Given the description of an element on the screen output the (x, y) to click on. 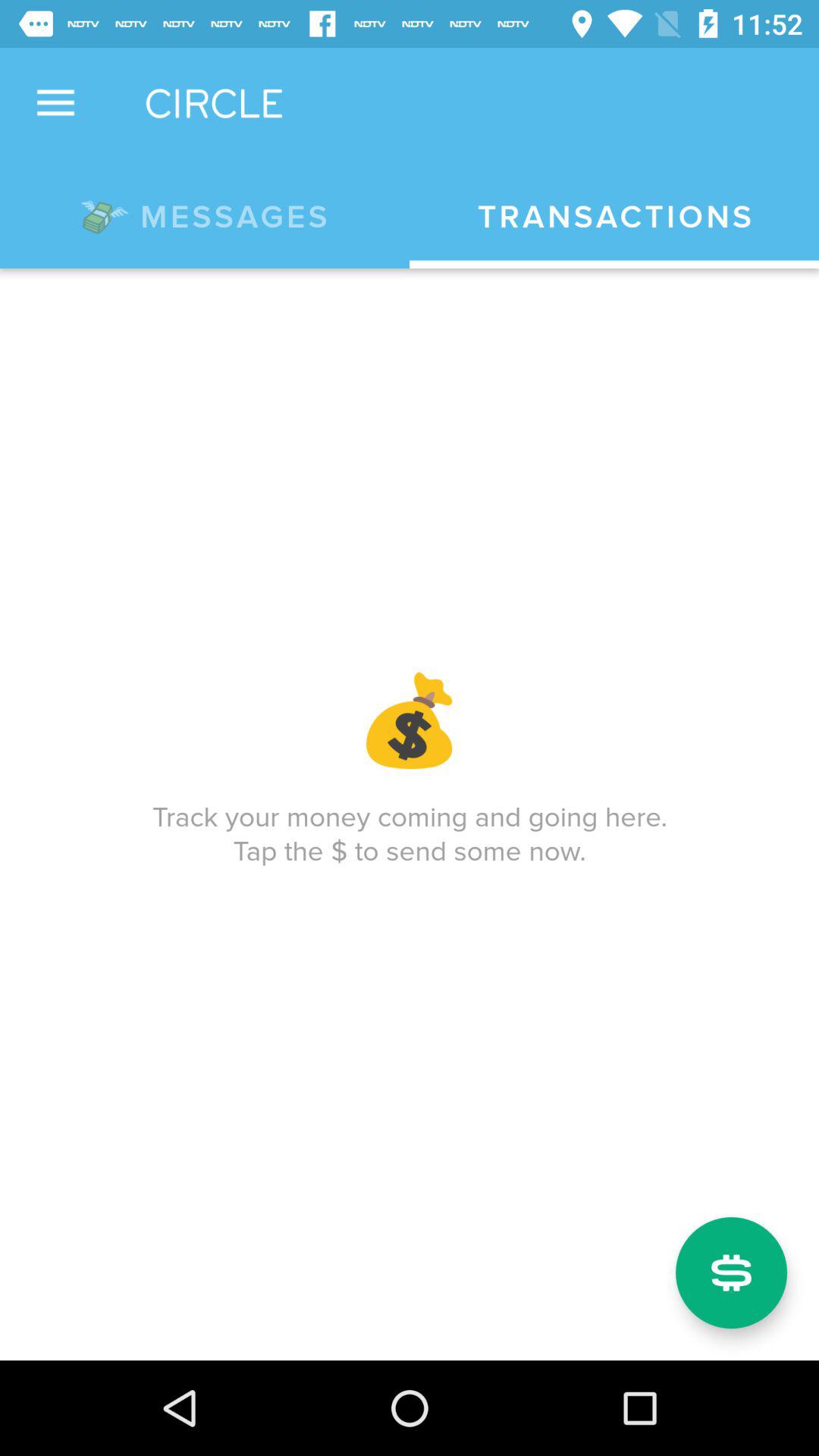
flip to the *messages (204, 213)
